Given the description of an element on the screen output the (x, y) to click on. 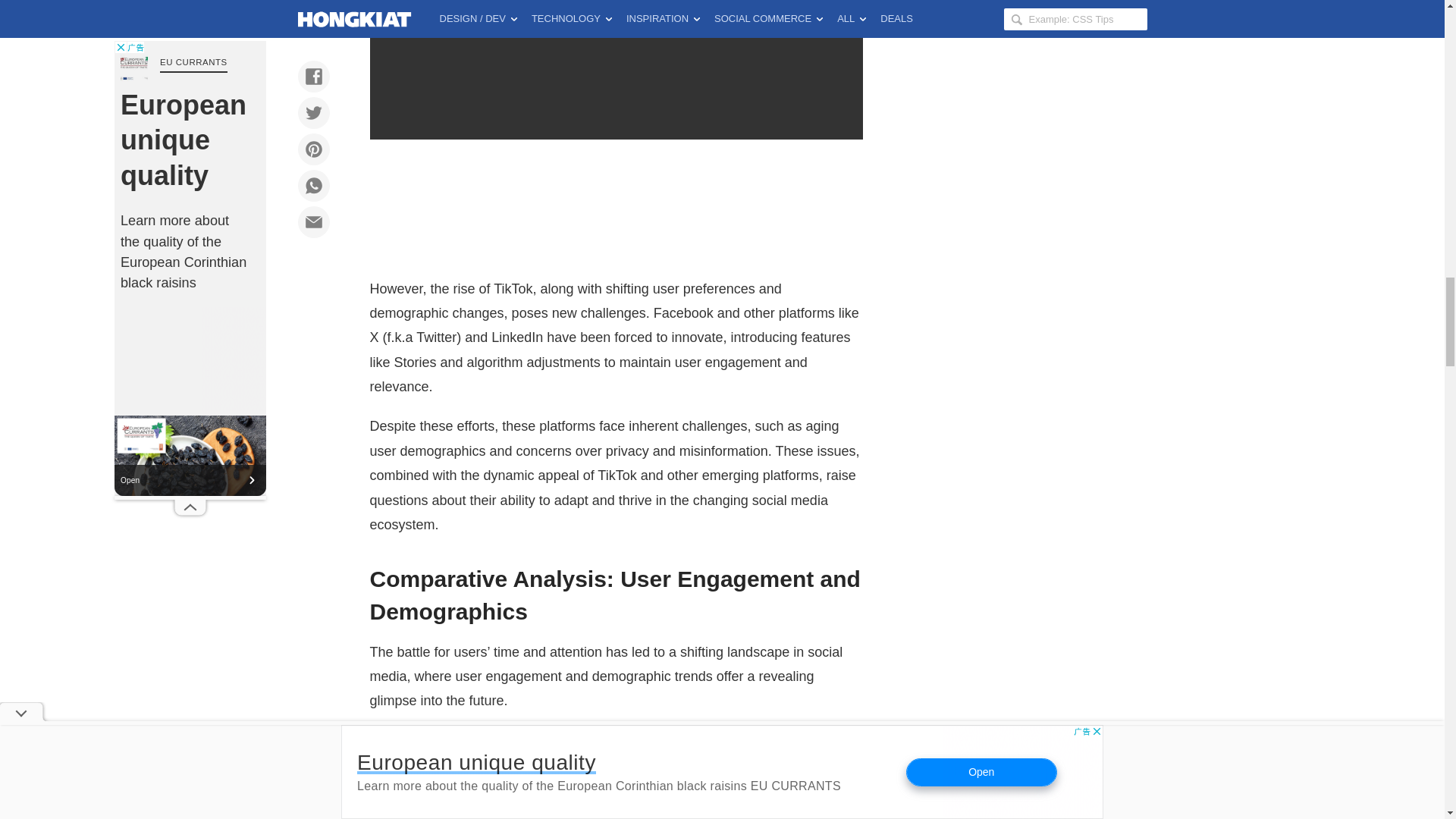
particularly Gen Z (423, 765)
